Given the description of an element on the screen output the (x, y) to click on. 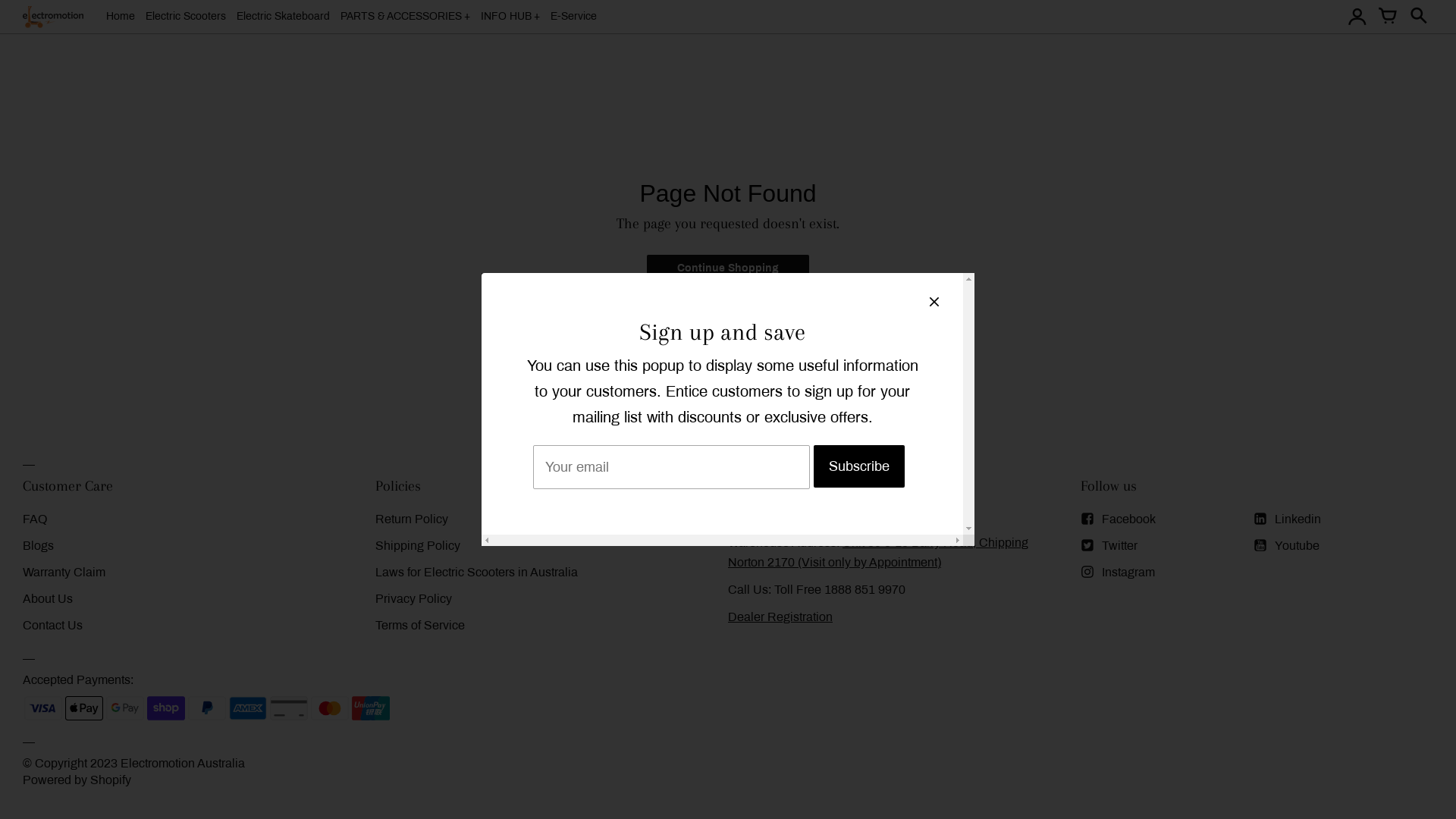
INFO HUB Element type: text (509, 16)
Dealer Registration Element type: text (780, 616)
Electric Skateboard Element type: text (282, 16)
FAQ Element type: text (34, 518)
Electromotion Australia Element type: text (182, 762)
info@electromotion.com.au Element type: text (801, 514)
Warranty Claim Element type: text (63, 571)
Youtube Element type: text (1285, 545)
About Us Element type: text (47, 598)
Blogs Element type: text (37, 545)
Powered by Shopify Element type: text (76, 779)
Terms of Service Element type: text (419, 624)
Shipping Policy Element type: text (417, 545)
Facebook Element type: text (1117, 518)
Electric Scooters Element type: text (185, 16)
Continue Shopping Element type: text (727, 267)
E-Service Element type: text (573, 16)
PARTS & ACCESSORIES Element type: text (405, 16)
Instagram Element type: text (1117, 571)
Return Policy Element type: text (411, 518)
Home Element type: text (120, 16)
Laws for Electric Scooters in Australia Element type: text (476, 571)
Linkedin Element type: text (1286, 518)
Contact Us Element type: text (52, 624)
Privacy Policy Element type: text (413, 598)
Twitter Element type: text (1108, 545)
Subscribe Element type: text (857, 466)
